Given the description of an element on the screen output the (x, y) to click on. 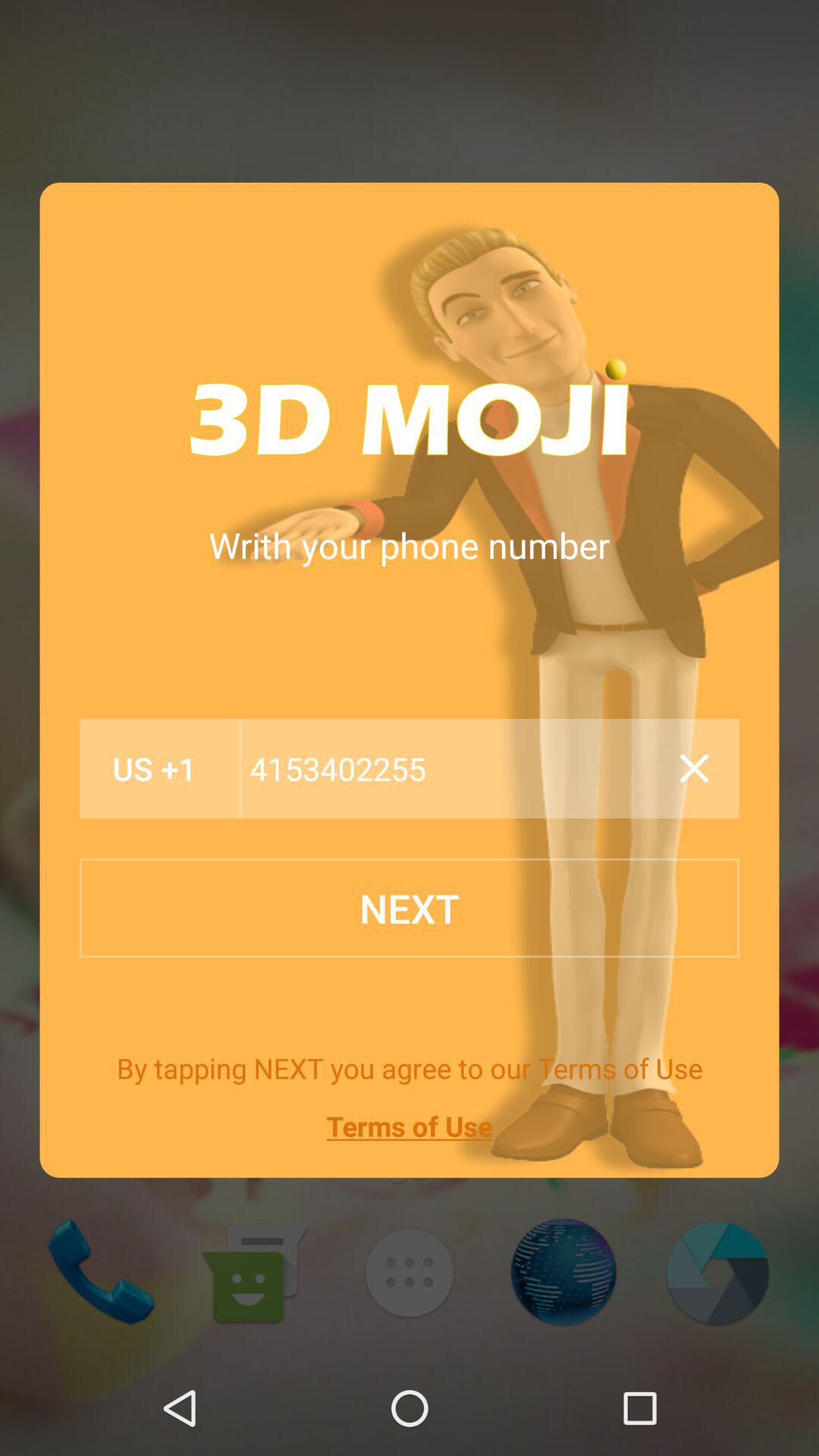
delete phone number information (694, 768)
